Given the description of an element on the screen output the (x, y) to click on. 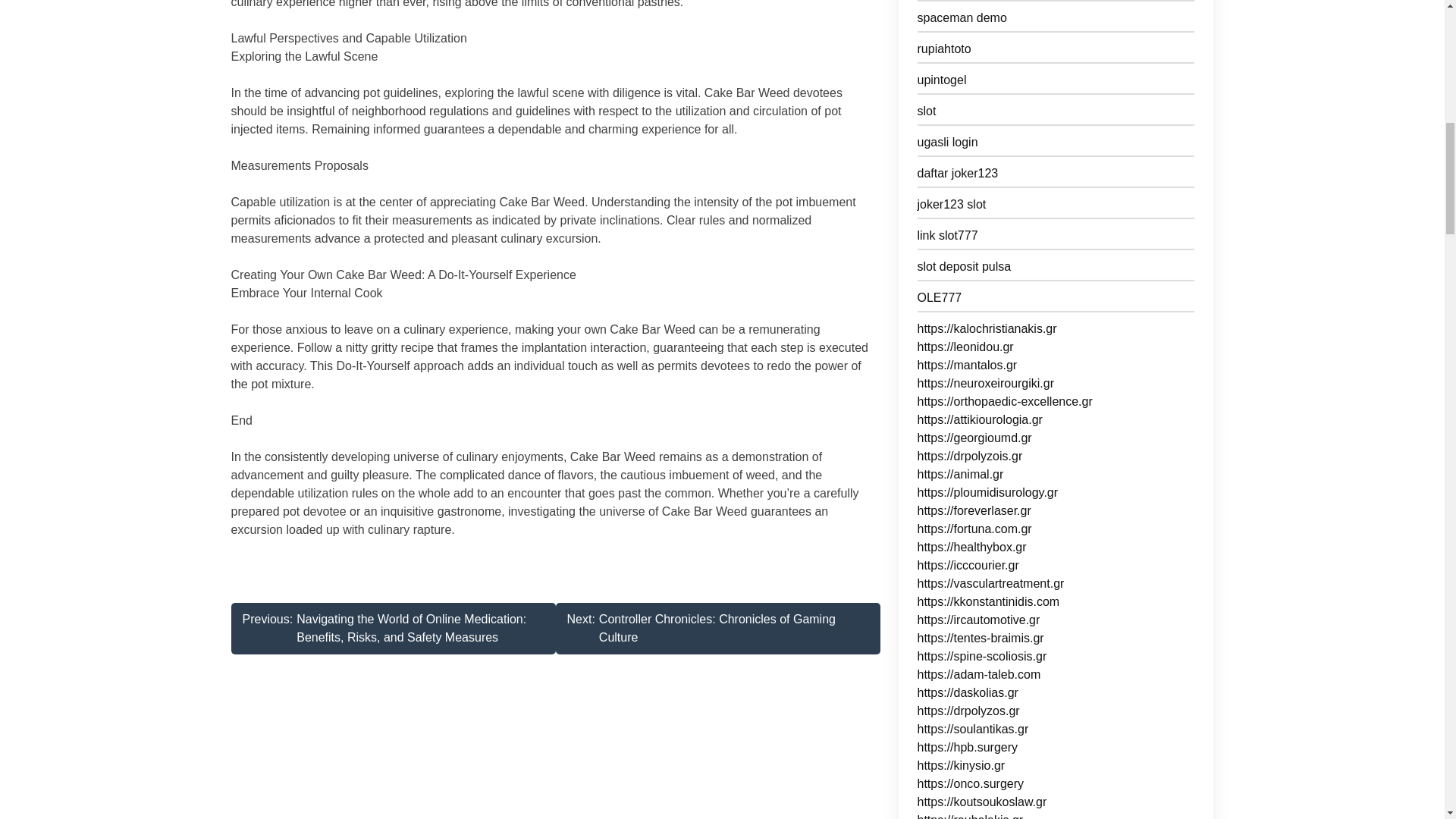
daftar joker123 (1056, 176)
slot (1056, 114)
ugasli login (1056, 145)
slot deposit pulsa (1056, 269)
rupiahtoto (1056, 51)
spaceman demo (1056, 20)
joker123 slot (716, 628)
link slot777 (1056, 207)
upintogel (1056, 238)
OLE777 (1056, 83)
